Given the description of an element on the screen output the (x, y) to click on. 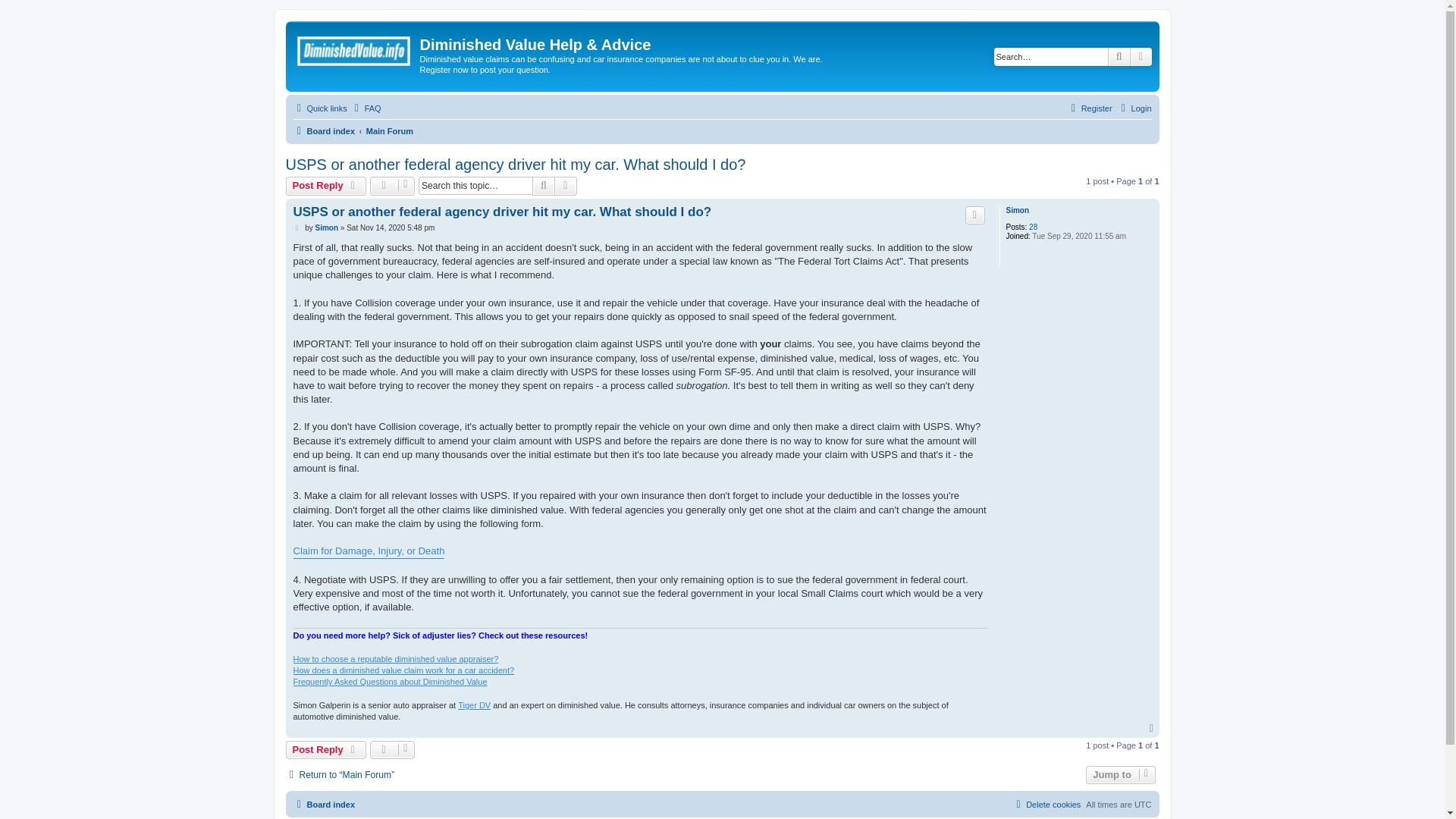
Login (1134, 108)
Login (1134, 108)
Register (1089, 108)
Quick links (319, 108)
Post (297, 227)
Simon (1017, 210)
Main Forum (389, 131)
Main Forum (389, 131)
Post (297, 227)
Advanced search (565, 185)
28 (1032, 226)
Quote (975, 215)
Board index (354, 50)
Simon (325, 227)
Post Reply (325, 185)
